Given the description of an element on the screen output the (x, y) to click on. 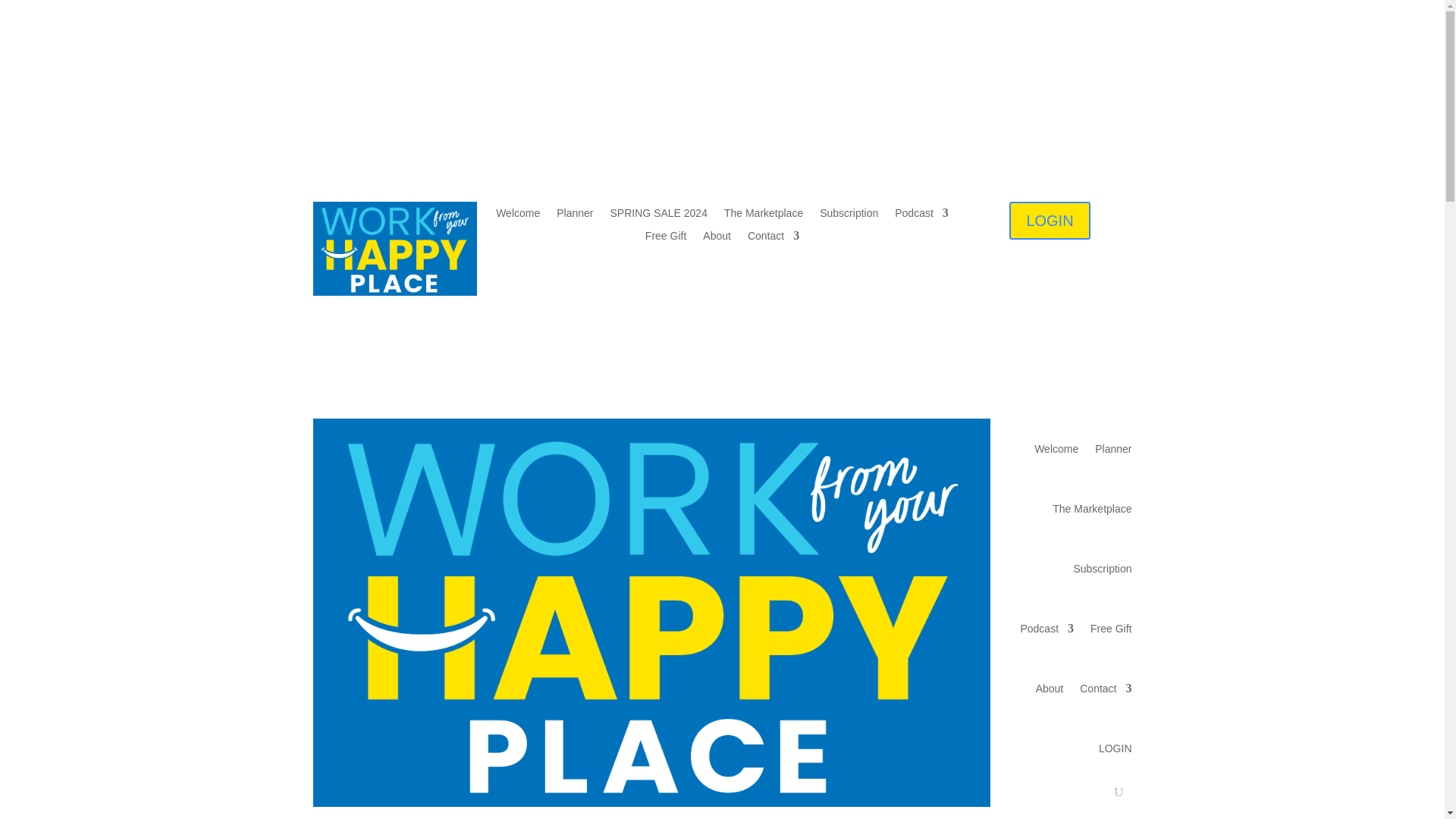
About (716, 238)
Free Gift (665, 238)
Subscription (1102, 568)
The Marketplace (763, 216)
SPRING SALE 2024 (658, 216)
LOGIN (1049, 220)
Contact (773, 238)
Welcome (518, 216)
Planner (574, 216)
Podcast (1047, 628)
